Given the description of an element on the screen output the (x, y) to click on. 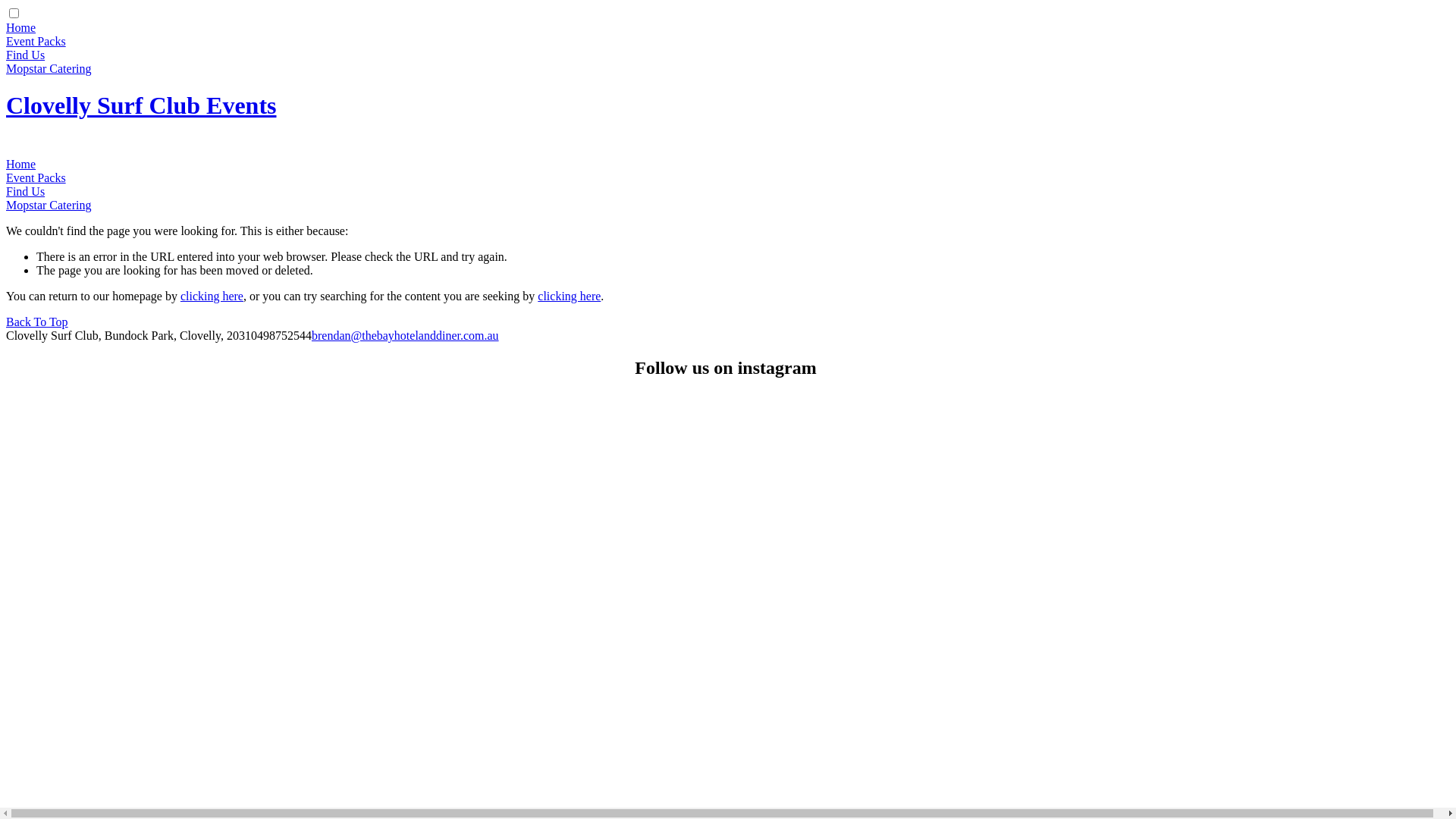
Home Element type: text (20, 27)
Event Packs Element type: text (35, 40)
Home Element type: text (20, 163)
clicking here Element type: text (211, 295)
Mopstar Catering Element type: text (48, 68)
clicking here Element type: text (568, 295)
brendan@thebayhotelanddiner.com.au Element type: text (404, 335)
Find Us Element type: text (25, 54)
Clovelly Surf Club Events Element type: text (141, 105)
Mopstar Catering Element type: text (48, 204)
Find Us Element type: text (25, 191)
Back To Top Element type: text (37, 321)
Event Packs Element type: text (35, 177)
